Given the description of an element on the screen output the (x, y) to click on. 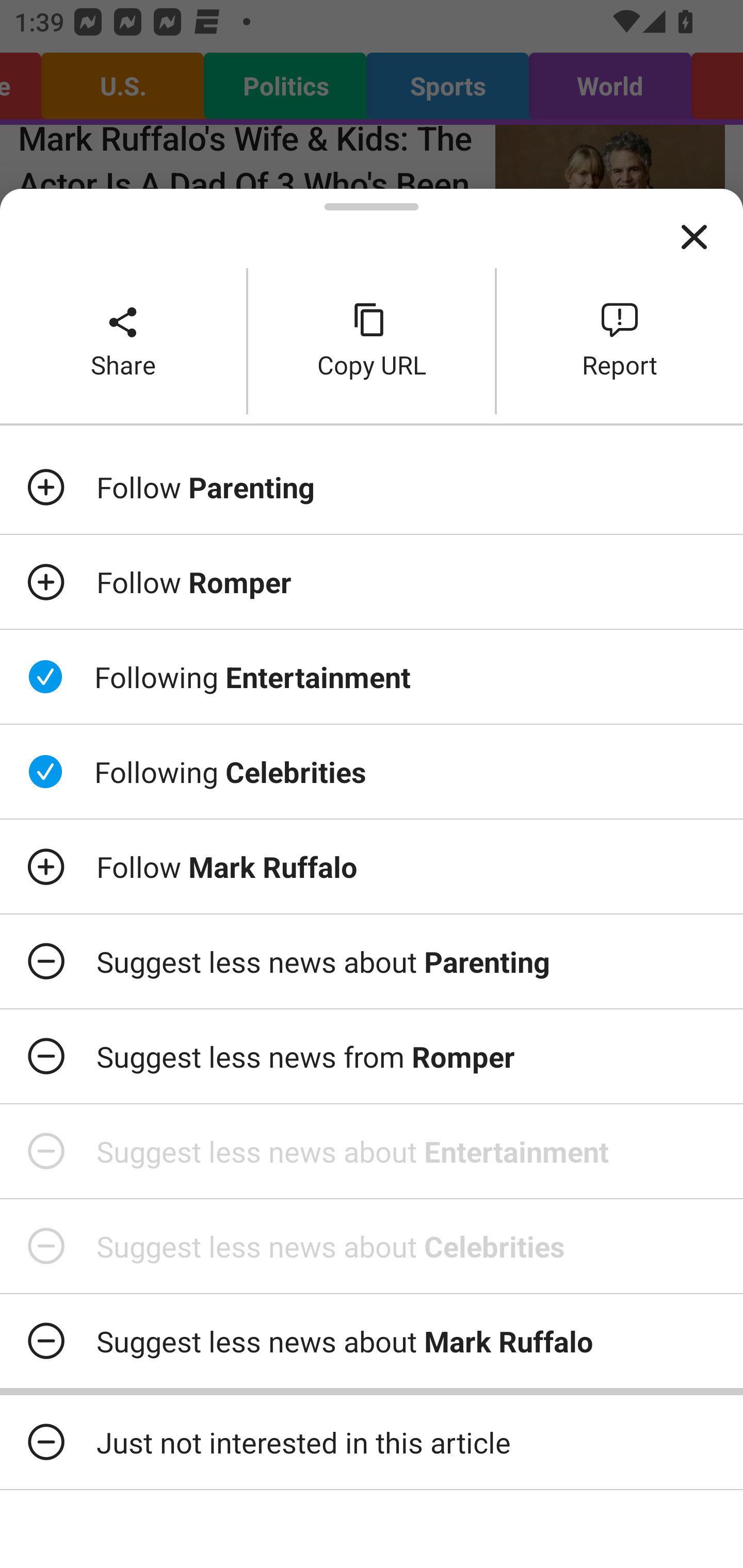
Close (694, 237)
Share (122, 340)
Copy URL (371, 340)
Report (620, 340)
Follow Parenting (371, 486)
Follow Romper (371, 581)
Following Entertainment (371, 677)
Following Celebrities (371, 771)
Follow Mark Ruffalo (371, 867)
Suggest less news about Parenting (371, 961)
Suggest less news from Romper (371, 1056)
Suggest less news about Mark Ruffalo (371, 1340)
Just not interested in this article (371, 1442)
